Given the description of an element on the screen output the (x, y) to click on. 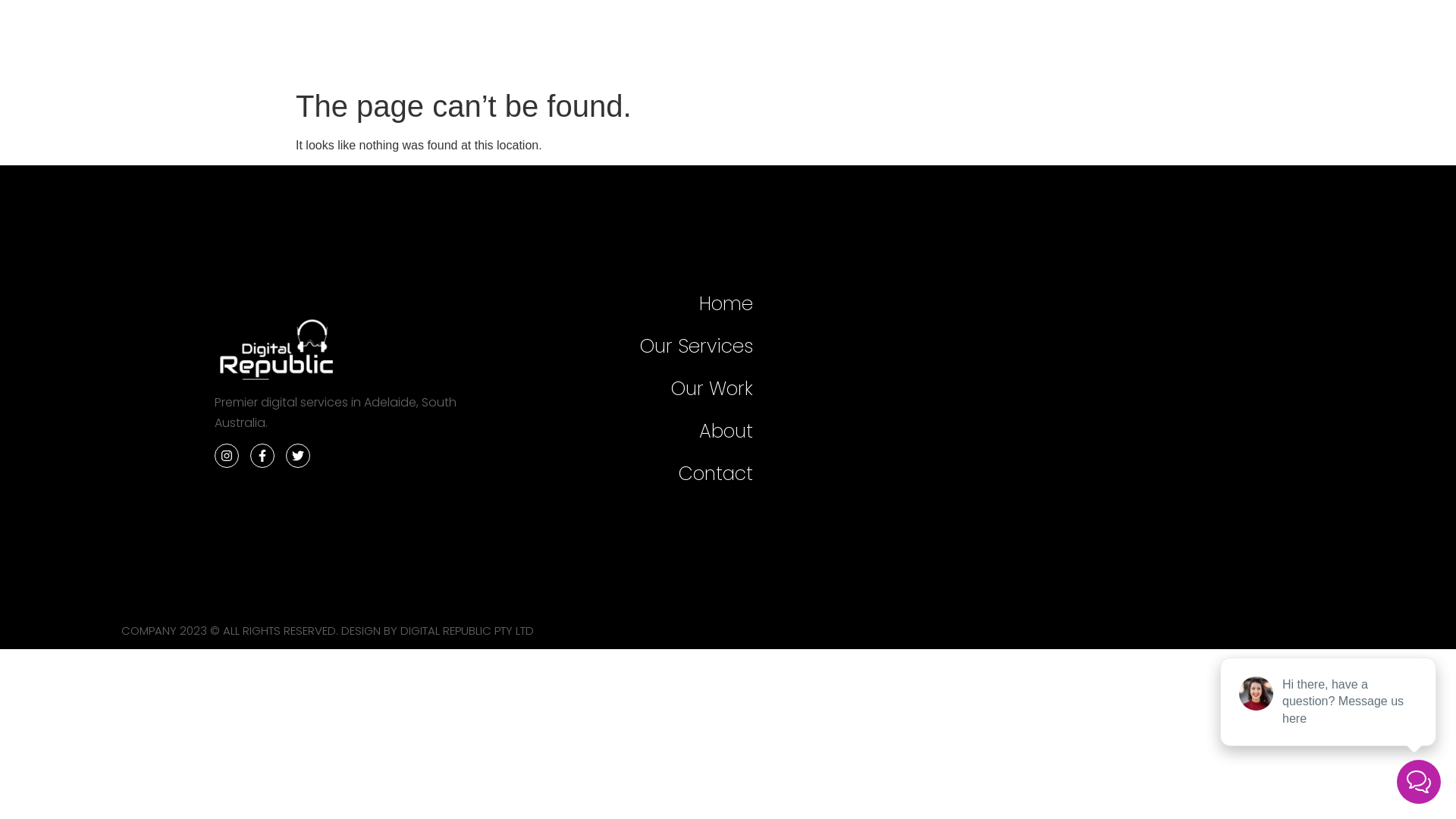
About Element type: text (1134, 40)
About Element type: text (662, 431)
Contact Element type: text (662, 473)
Our Work Element type: text (1038, 40)
Home Element type: text (662, 303)
Submit Request Element type: hover (1029, 389)
Our Services Element type: text (662, 346)
Our Work Element type: text (662, 388)
Home Element type: text (805, 40)
Our Services Element type: text (914, 40)
Contact Element type: text (1227, 40)
